Given the description of an element on the screen output the (x, y) to click on. 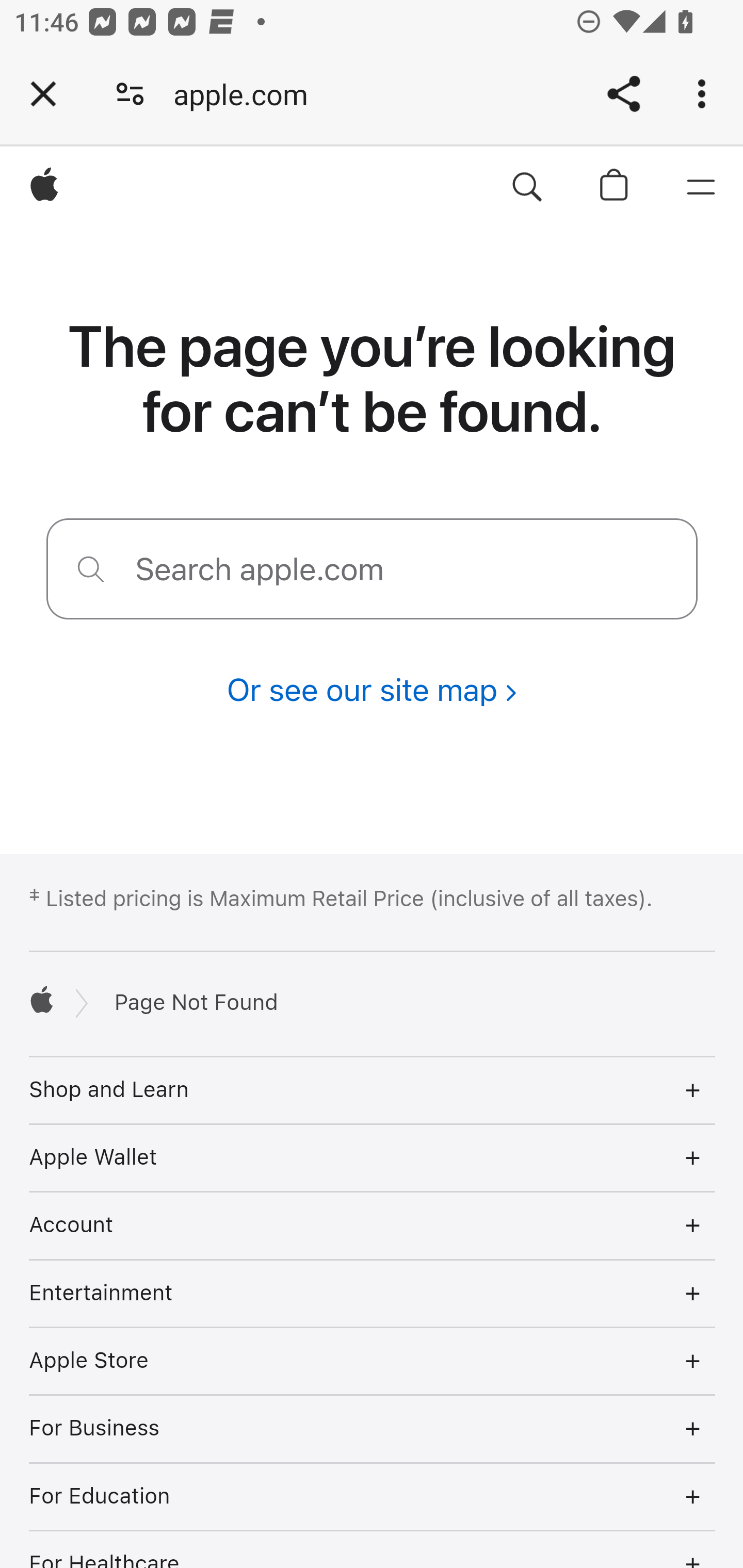
Close tab (43, 93)
Share (623, 93)
Customize and control Google Chrome (705, 93)
Connection is secure (129, 93)
apple.com (247, 93)
Apple (45, 188)
Search apple.com (526, 188)
Shopping Bag (614, 188)
Menu (700, 188)
submit (90, 568)
Or see our site map  Or see our site map  (371, 689)
Apple (41, 998)
Shop and Learn (372, 1089)
Apple Wallet (372, 1157)
Account (372, 1225)
Entertainment (372, 1294)
Apple Store (372, 1360)
For Business (372, 1429)
For Education (372, 1496)
